Given the description of an element on the screen output the (x, y) to click on. 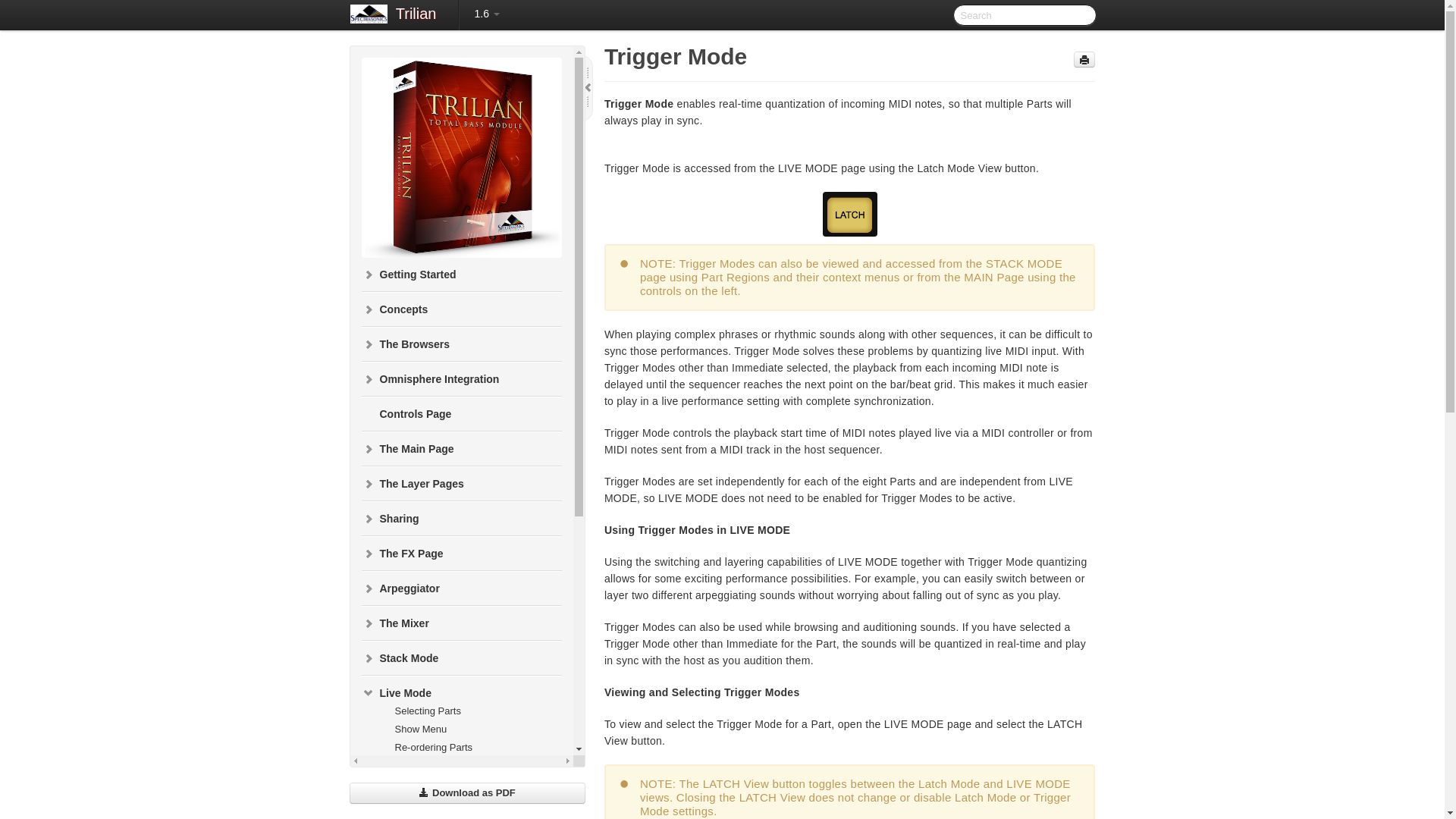
Trilian (415, 15)
1.6 (485, 14)
Print page (1084, 59)
